Given the description of an element on the screen output the (x, y) to click on. 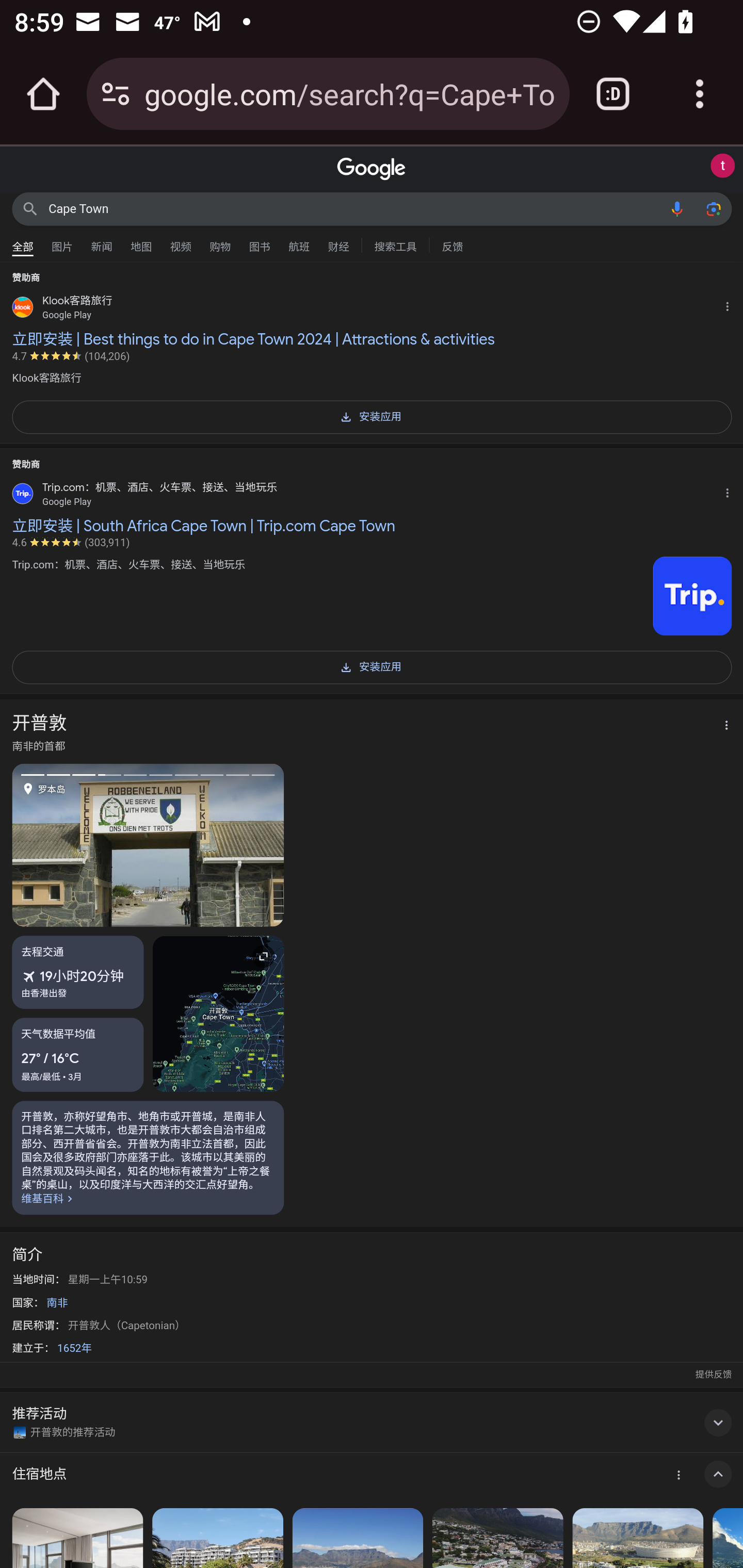
Open the home page (43, 93)
Connection is secure (115, 93)
Switch or close tabs (612, 93)
Customize and control Google Chrome (699, 93)
Google (371, 169)
Google 账号： test appium (testappium002@gmail.com) (722, 165)
Google 搜索 (29, 208)
使用拍照功能或照片进行搜索 (712, 208)
Cape Town (353, 208)
图片 (62, 241)
新闻 (101, 241)
地图 (141, 241)
视频 (180, 241)
购物 (219, 241)
图书 (259, 241)
航班 (299, 241)
财经 (338, 241)
搜索工具 (395, 244)
反馈 (452, 244)
为什么会显示该广告？ (731, 303)
安装应用 (371, 415)
为什么会显示该广告？ (731, 490)
立即安装 | South Africa Cape Town | Trip.com Cape Town (371, 525)
图片来自 google.com (691, 596)
安装应用 (371, 666)
更多选项 (720, 726)
去程交通 19小时20分钟 乘坐飞机 由香港出發 (77, 971)
展开地图 (217, 1012)
天气数据平均值 27° / 16°C 最高/最低 • 3月 (77, 1054)
%E9%96%8B%E6%99%AE%E6%95%A6 (147, 1157)
南非 (57, 1302)
1652年 (74, 1348)
提供反馈 (713, 1374)
推荐活动 … 开普敦的推荐活动 (371, 1421)
住宿地点 … 开普敦的酒店 (371, 1474)
